Given the description of an element on the screen output the (x, y) to click on. 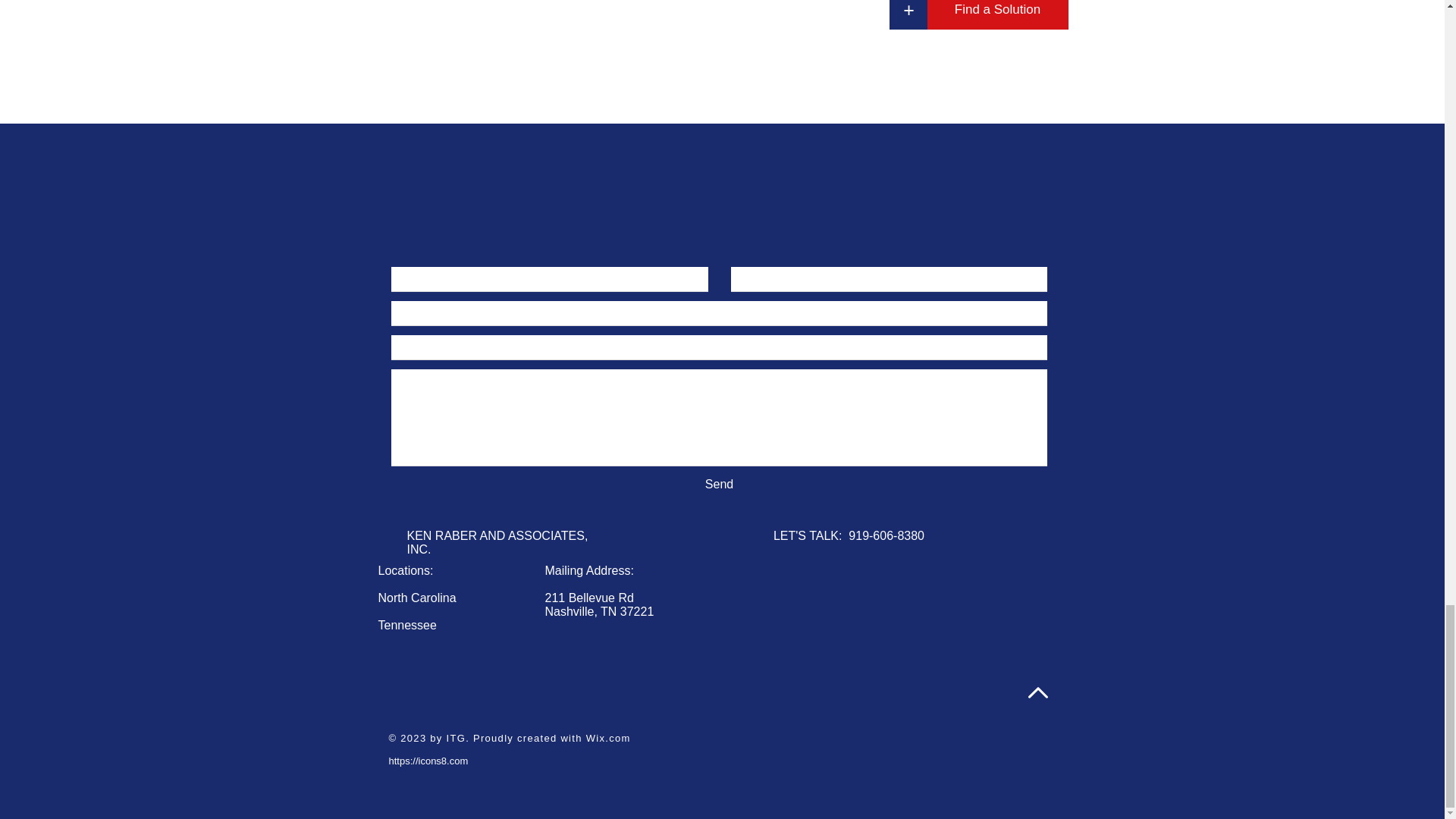
Wix.com (608, 737)
Send (718, 484)
Find a Solution (996, 14)
